Given the description of an element on the screen output the (x, y) to click on. 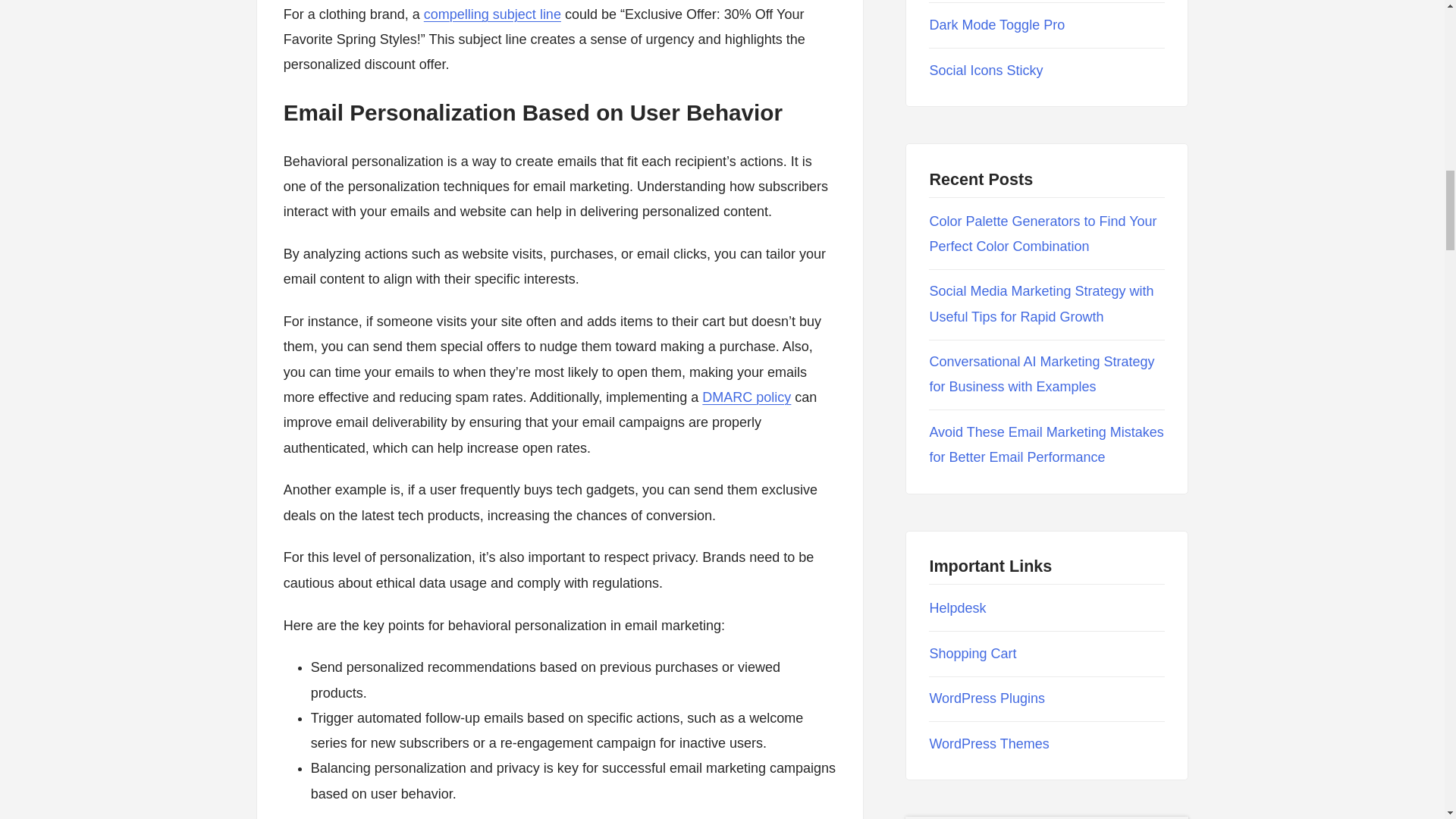
compelling subject line (491, 14)
